Given the description of an element on the screen output the (x, y) to click on. 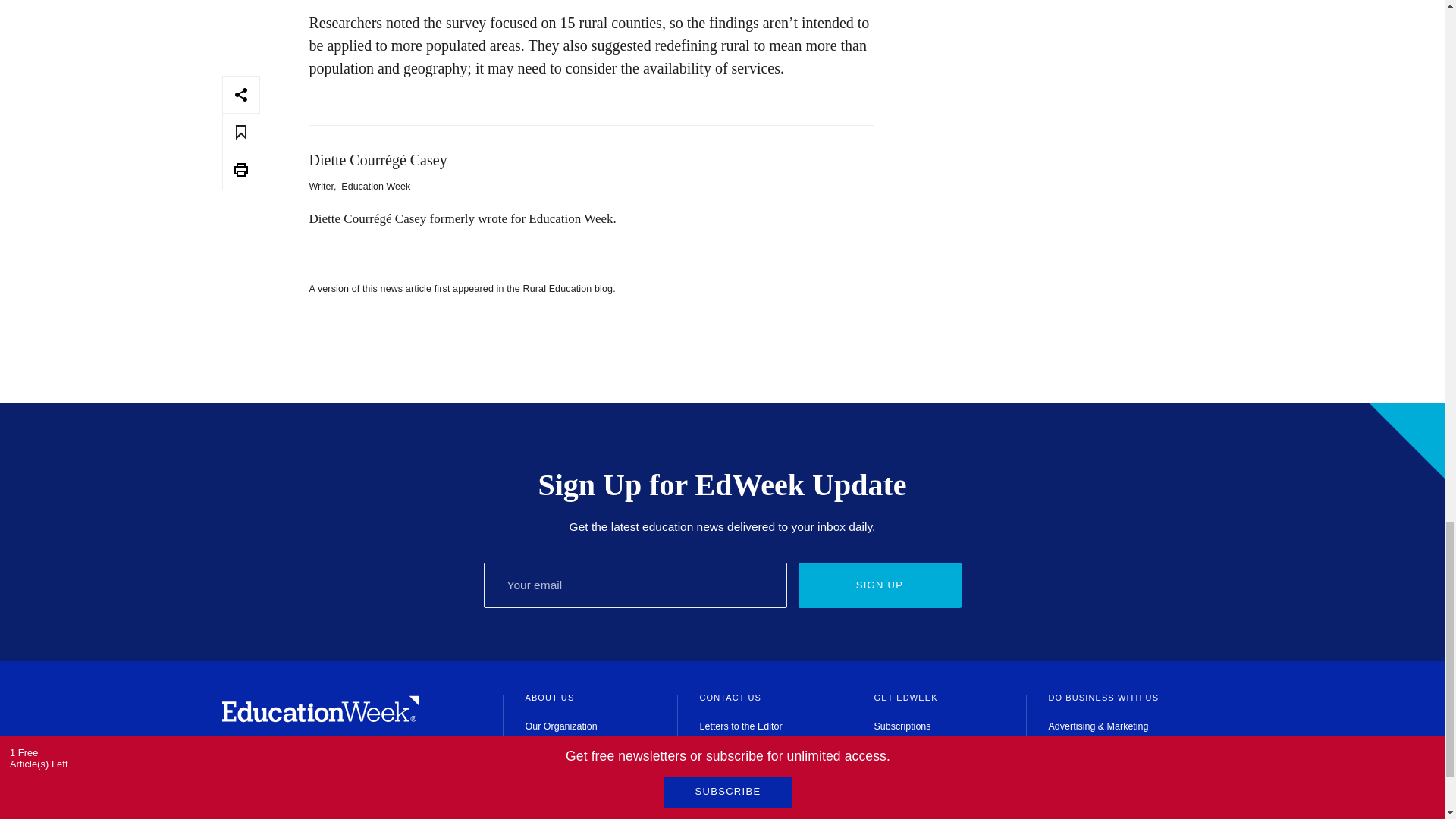
Homepage (320, 717)
